Given the description of an element on the screen output the (x, y) to click on. 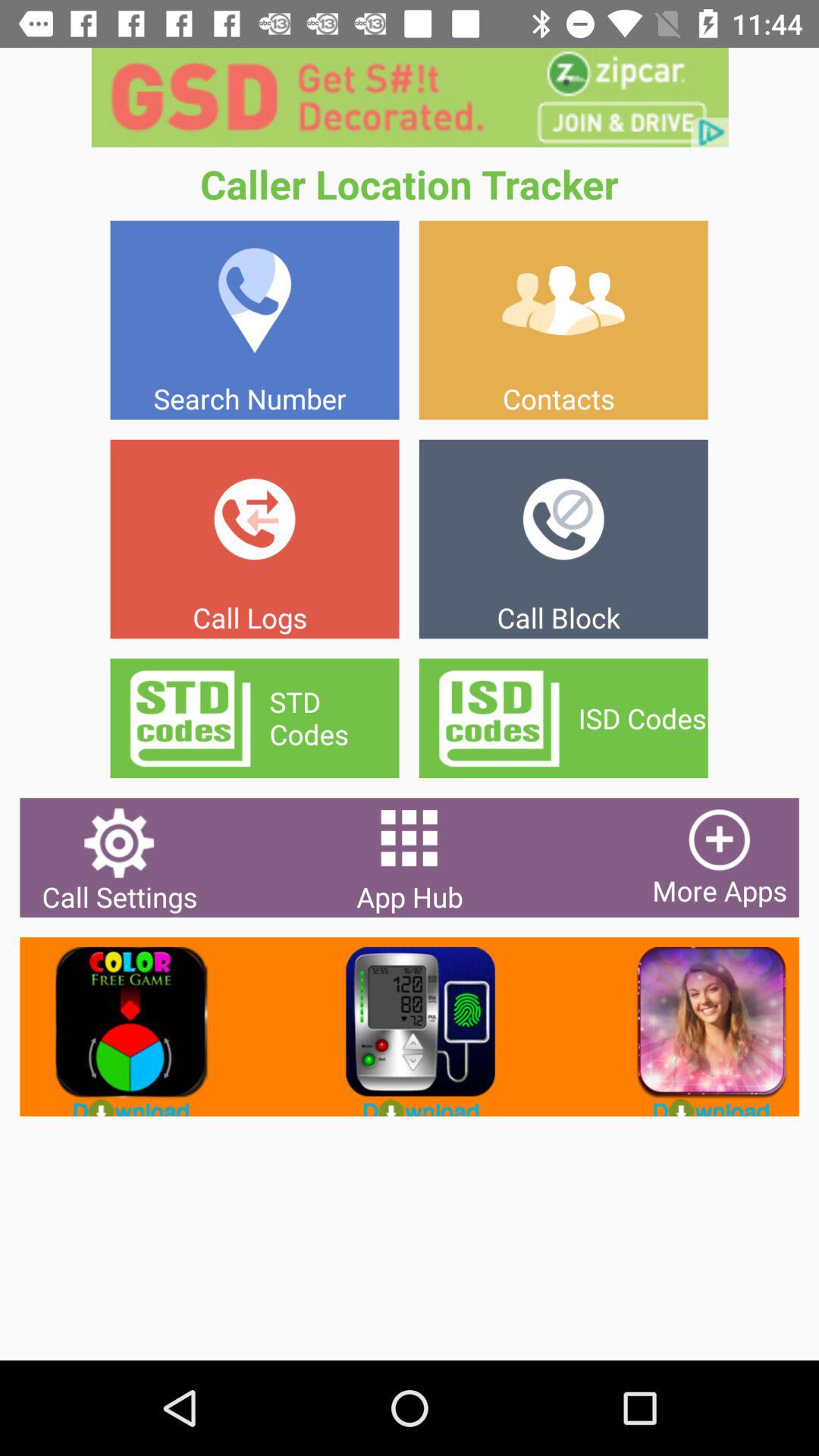
view advertisement (699, 1026)
